Given the description of an element on the screen output the (x, y) to click on. 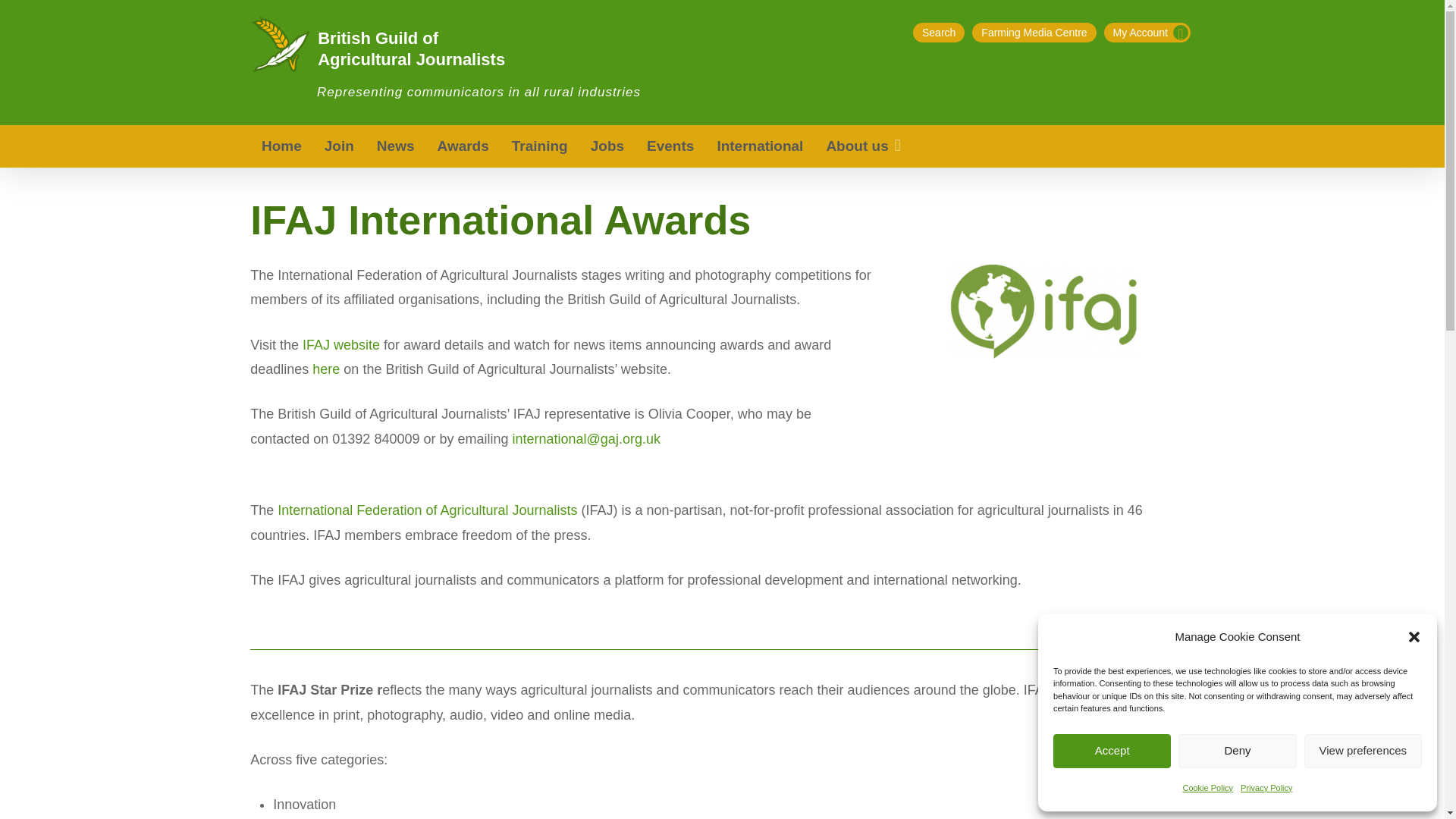
News (395, 146)
Privacy Policy (1266, 787)
Search (937, 32)
Deny (1236, 750)
International (758, 146)
View preferences (1363, 750)
Training (539, 146)
Awards (463, 146)
About us (863, 146)
Home (281, 146)
Accept (1111, 750)
Jobs (606, 146)
Cookie Policy (1207, 787)
Farming Media Centre (1034, 32)
My Account (1147, 32)
